Given the description of an element on the screen output the (x, y) to click on. 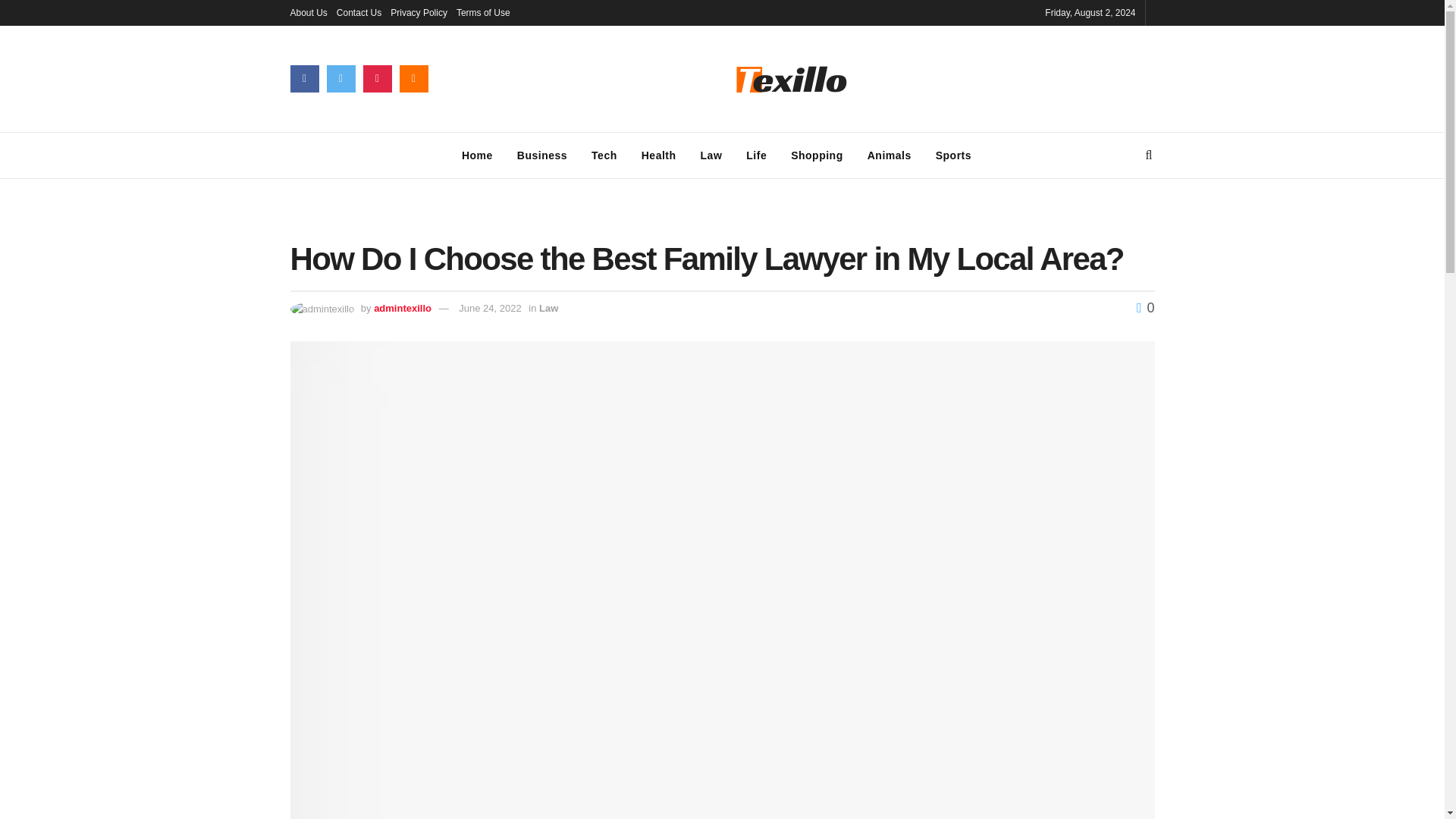
Law (547, 307)
Animals (889, 155)
Privacy Policy (418, 12)
0 (1145, 307)
Sports (953, 155)
Law (711, 155)
Shopping (817, 155)
Life (755, 155)
Terms of Use (484, 12)
Health (658, 155)
June 24, 2022 (489, 307)
Contact Us (358, 12)
About Us (307, 12)
Business (542, 155)
admintexillo (402, 307)
